Given the description of an element on the screen output the (x, y) to click on. 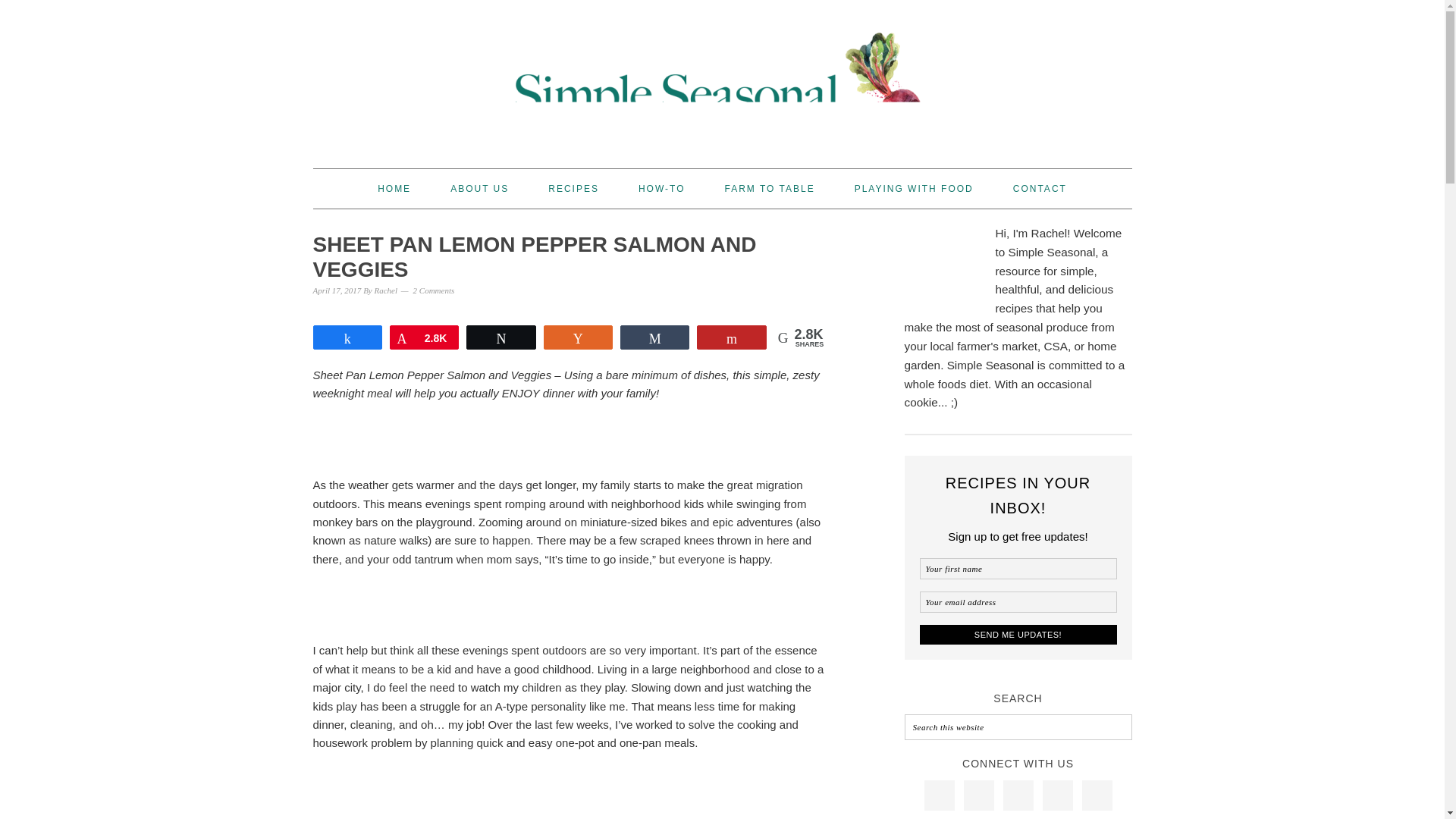
FARM TO TABLE (768, 188)
2 Comments (433, 289)
Contact Simple Seasonal (1040, 188)
Simple Seasonal Home (393, 188)
PLAYING WITH FOOD (913, 188)
SIMPLE SEASONAL (722, 77)
Send Me Updates! (1017, 634)
HOW-TO (662, 188)
How-To (662, 188)
HOME (393, 188)
RECIPES (573, 188)
ABOUT US (478, 188)
About Simple Seasonal (478, 188)
Rachel (385, 289)
